Given the description of an element on the screen output the (x, y) to click on. 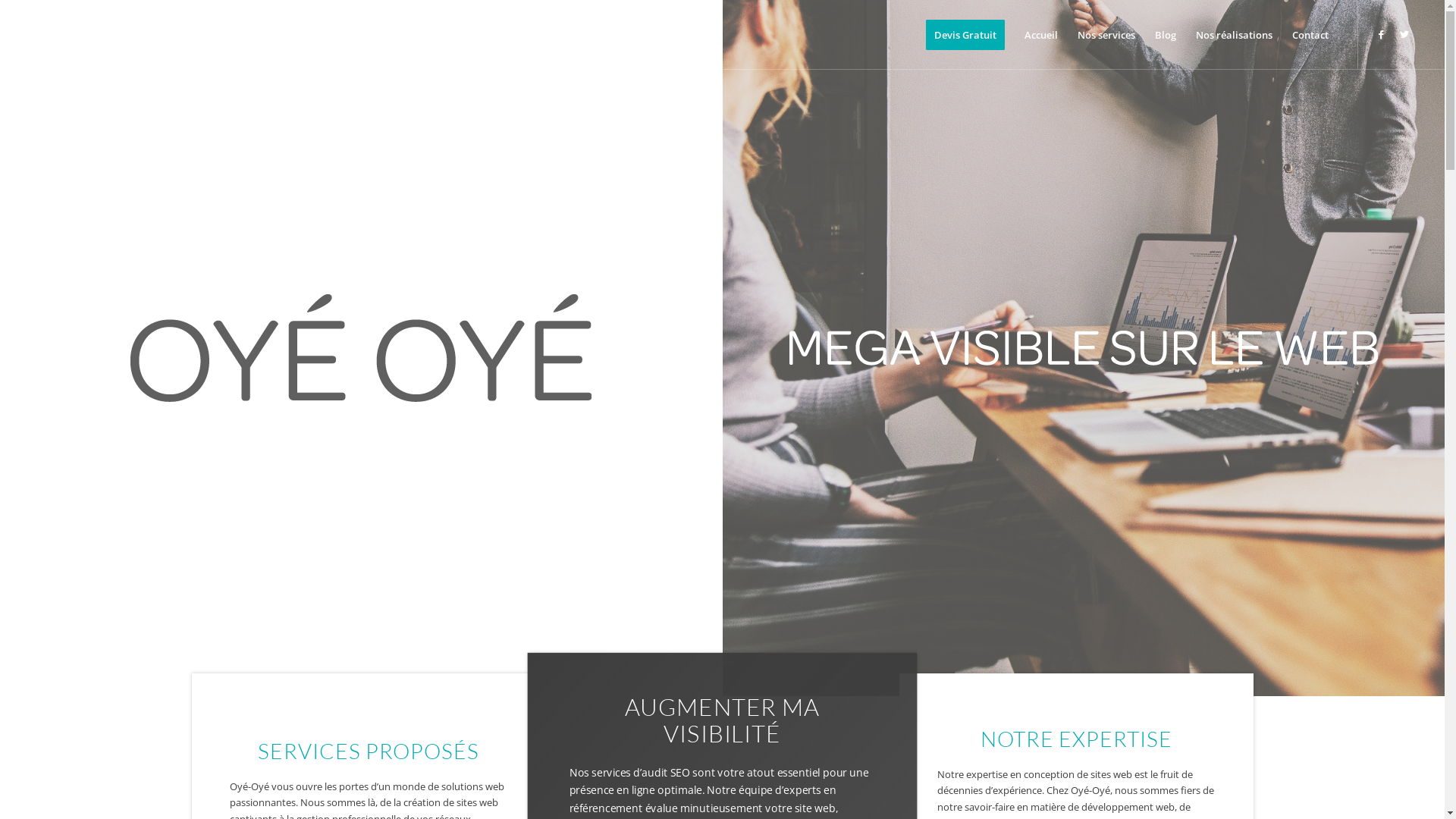
Nos services Element type: text (1106, 34)
Facebook Element type: hover (1381, 33)
Devis Gratuit Element type: text (965, 34)
Twitter Element type: hover (1404, 33)
OYE-OYE Element type: hover (360, 347)
OYE-OYE_slogan-blanc Element type: hover (1083, 347)
Contact Element type: text (1310, 34)
Blog Element type: text (1165, 34)
Accueil Element type: text (1040, 34)
